Given the description of an element on the screen output the (x, y) to click on. 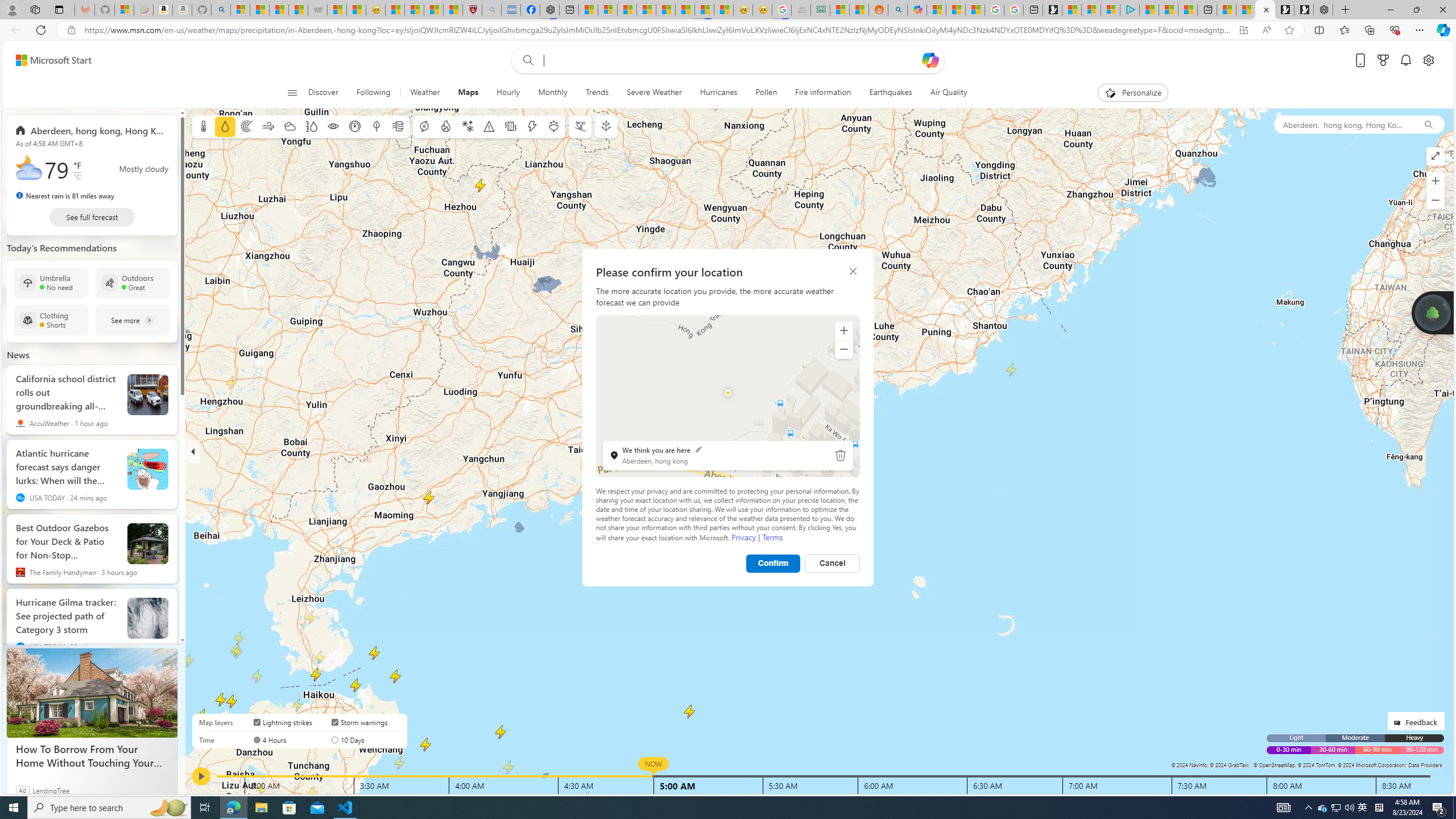
Trends (596, 92)
Aberdeen, hong kong, Hong Kong SAR (92, 130)
Lightning (532, 126)
Wind (267, 126)
Combat Siege (316, 9)
Hourly (508, 92)
Edit (698, 448)
Pollen (765, 92)
